Given the description of an element on the screen output the (x, y) to click on. 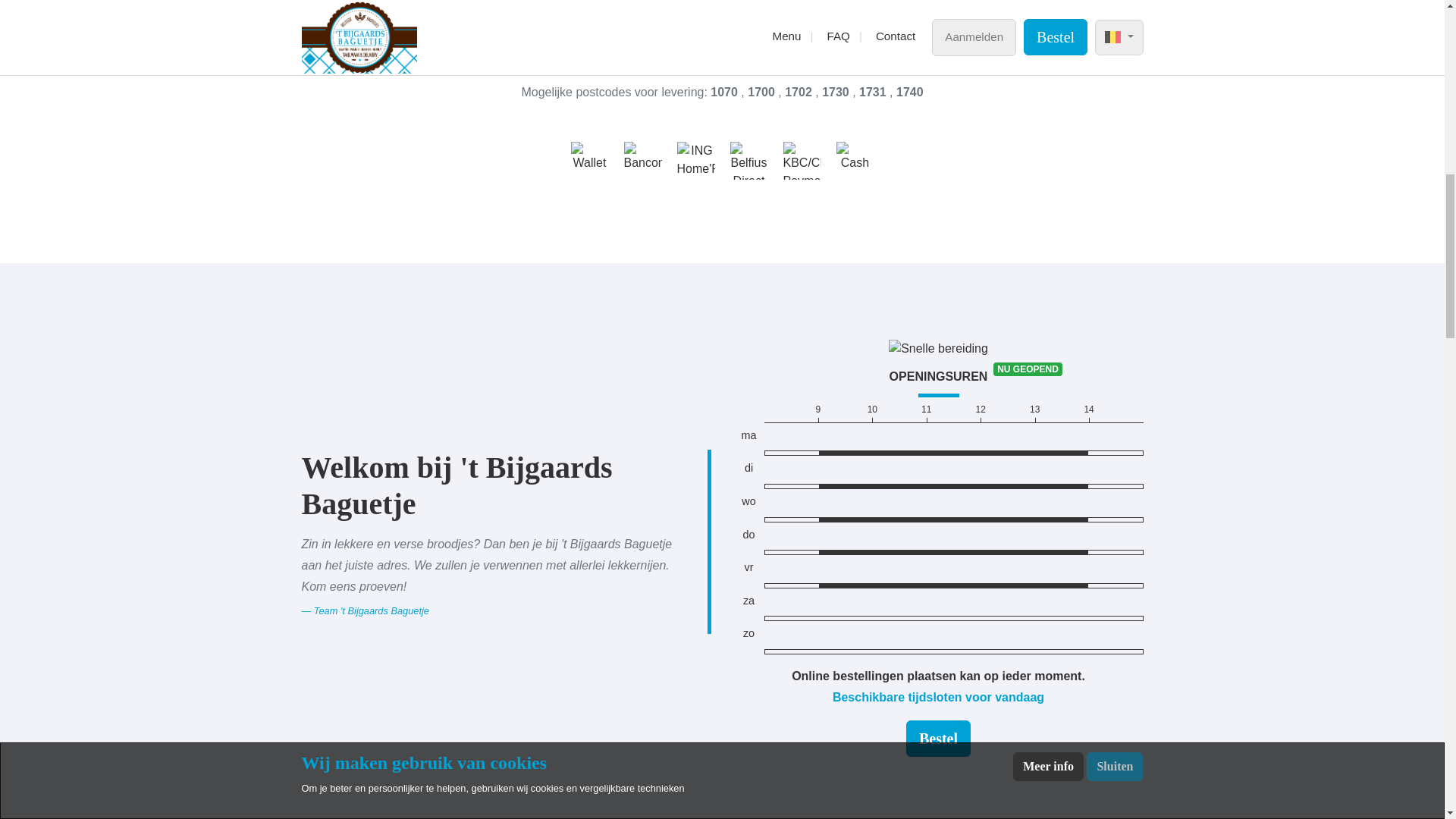
Bestel (938, 738)
Wallet: Betaal met de Rakedi Wallet (589, 160)
Beschikbare tijdsloten voor vandaag (937, 697)
